Given the description of an element on the screen output the (x, y) to click on. 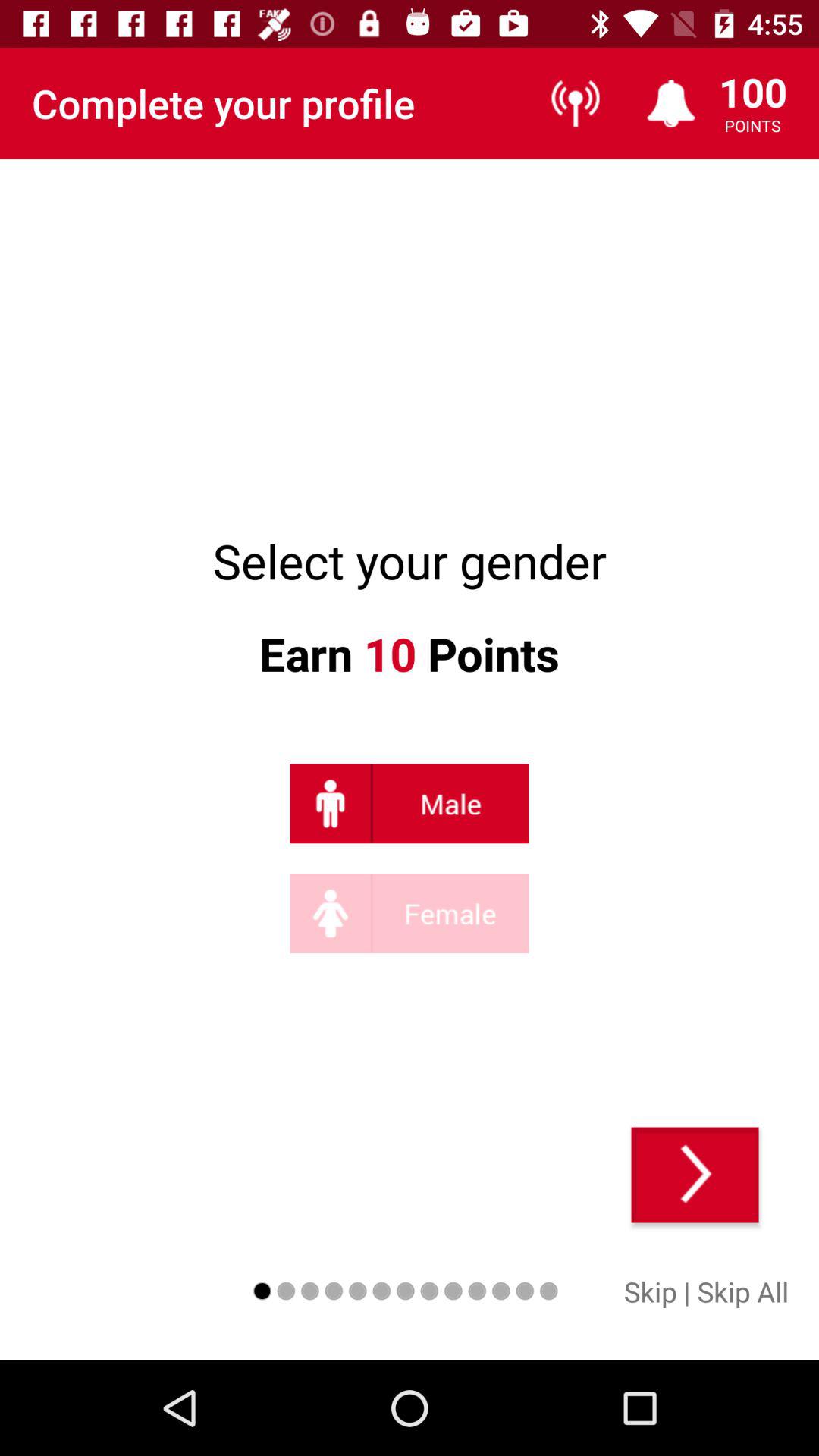
click on male (409, 803)
